Given the description of an element on the screen output the (x, y) to click on. 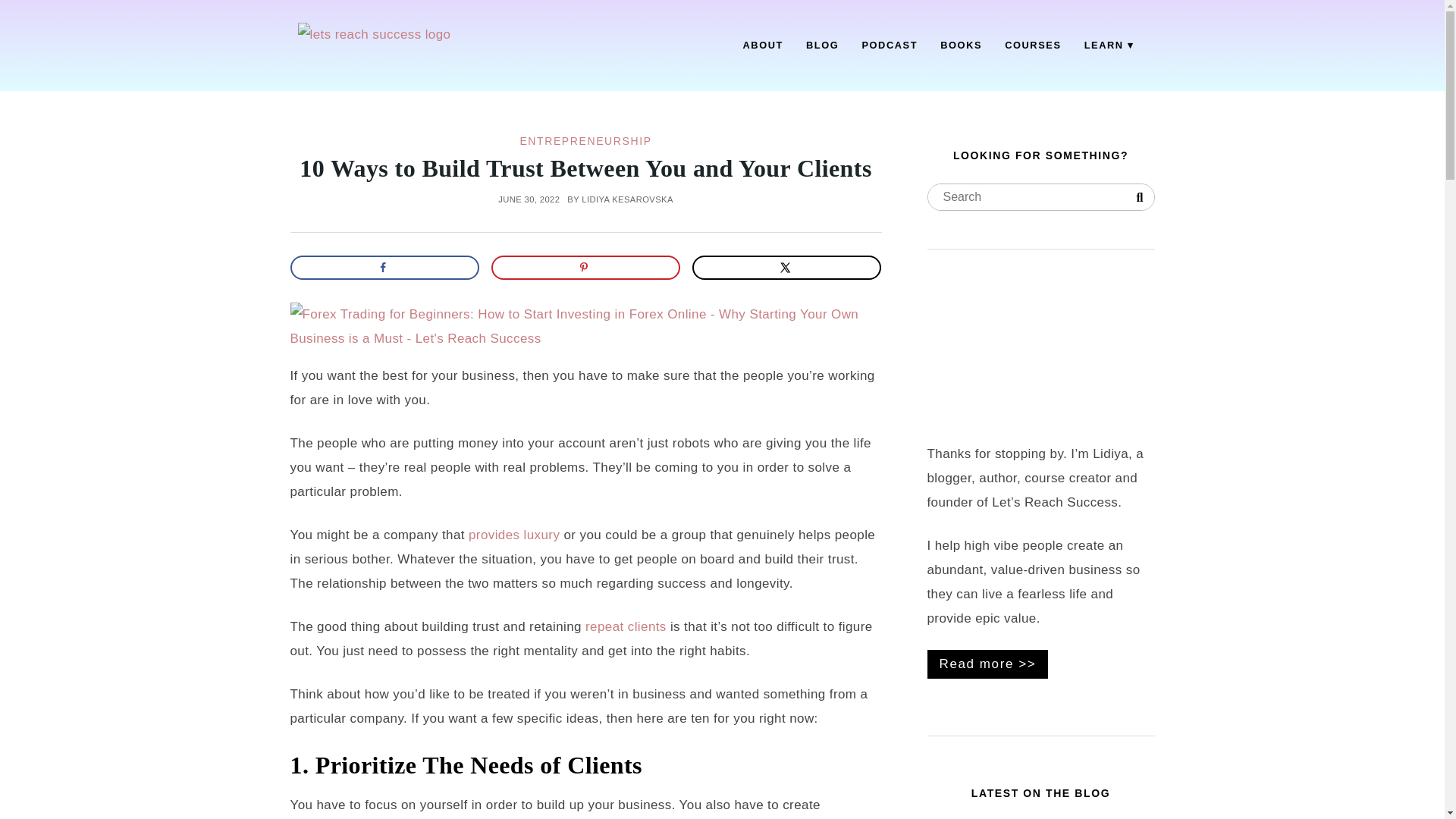
BLOG (822, 45)
ABOUT (763, 45)
ENTREPRENEURSHIP (584, 141)
repeat clients (625, 626)
Share on X (787, 267)
Share on Facebook (384, 267)
Save to Pinterest (586, 267)
10 Ways to Build Trust Between You and Your Clients (584, 167)
10 Ways to Build Trust Between You and Your Clients (584, 167)
PODCAST (889, 45)
